Given the description of an element on the screen output the (x, y) to click on. 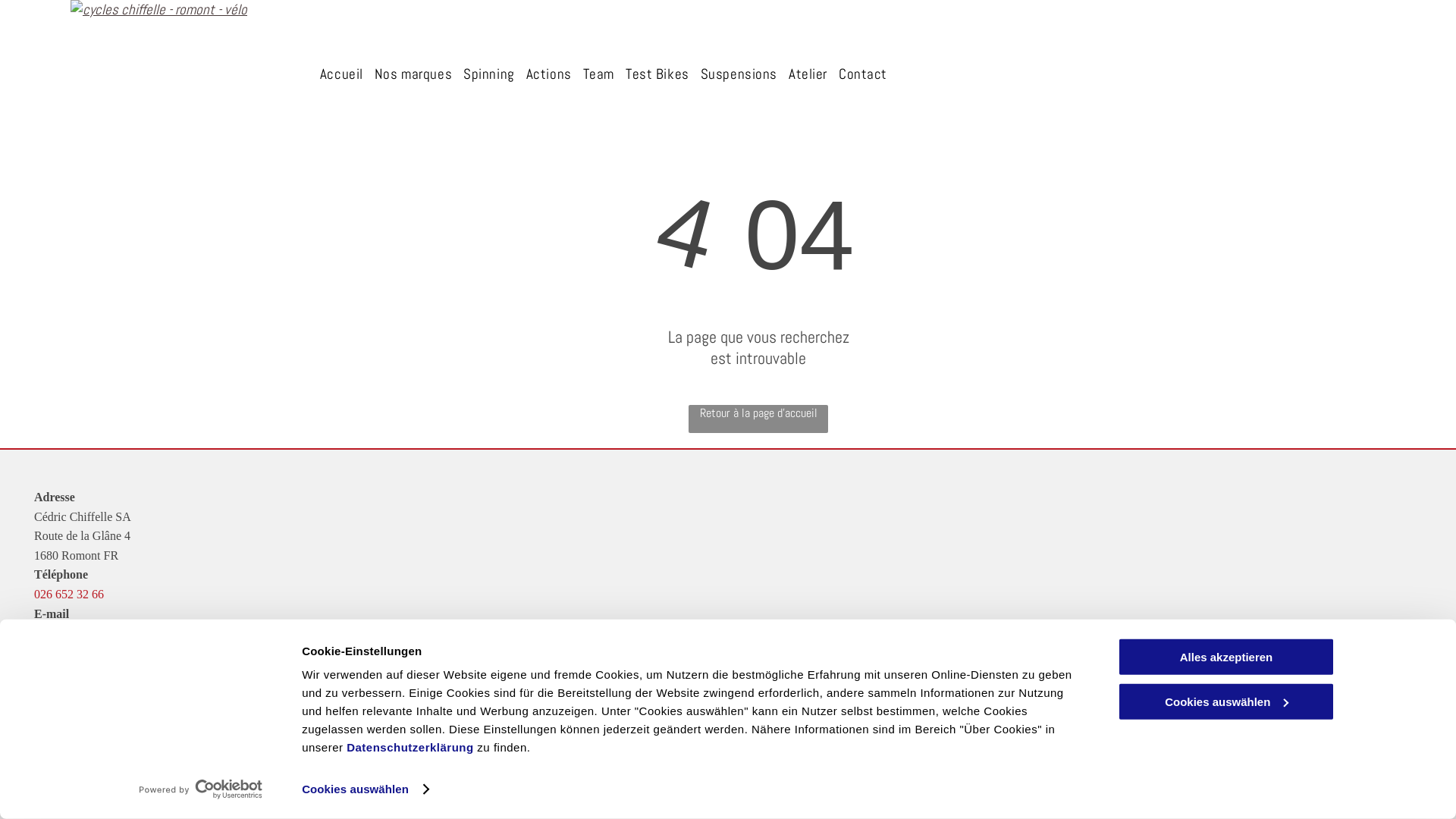
Atelier Element type: text (807, 73)
Suspensions Element type: text (738, 73)
Team Element type: text (598, 73)
Partager Element type: hover (16, 815)
Test Bikes Element type: text (657, 73)
Alles akzeptieren Element type: text (1225, 656)
Fermer (Echap) Element type: hover (4, 815)
Contact Element type: text (862, 73)
026 652 32 66 Element type: text (68, 593)
Nos marques Element type: text (412, 73)
Spinning Element type: text (488, 73)
office@chiffelle-bike.ch Element type: text (93, 632)
Accueil Element type: text (341, 73)
Actions Element type: text (548, 73)
